Given the description of an element on the screen output the (x, y) to click on. 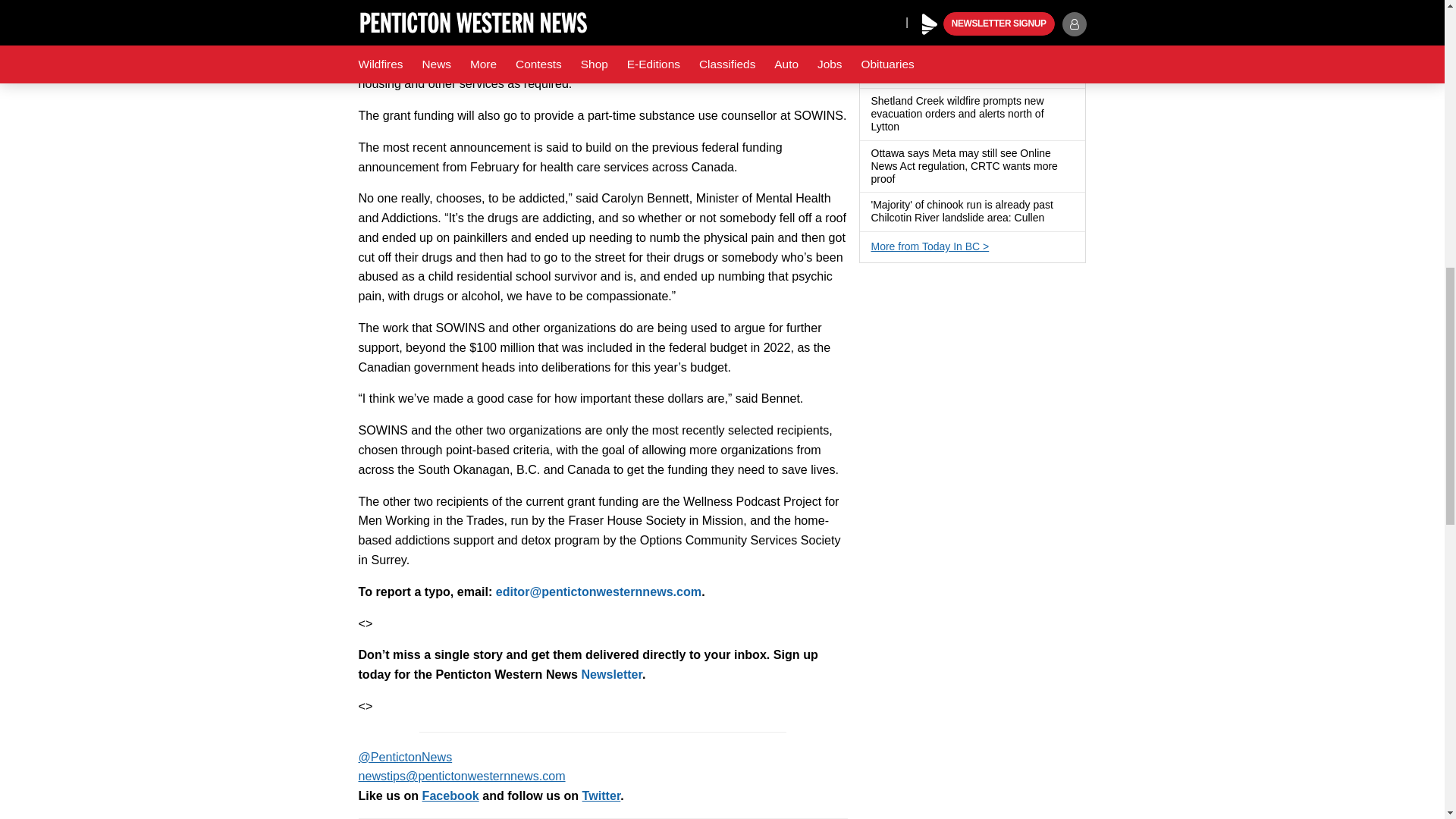
Has a gallery (908, 127)
